Given the description of an element on the screen output the (x, y) to click on. 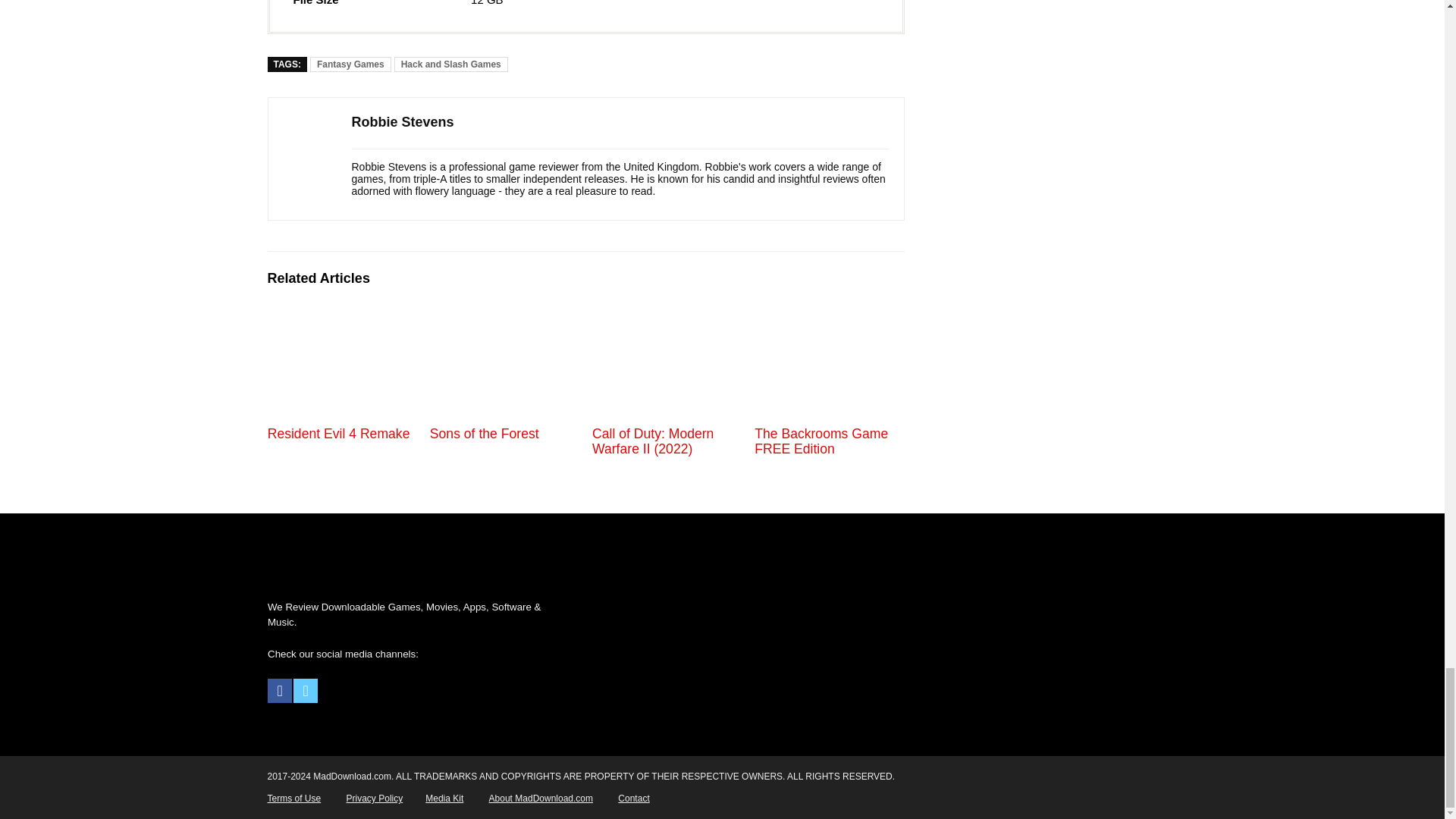
MadDownload Facebook Page (279, 690)
MadDownload Twitter Page (305, 690)
